Given the description of an element on the screen output the (x, y) to click on. 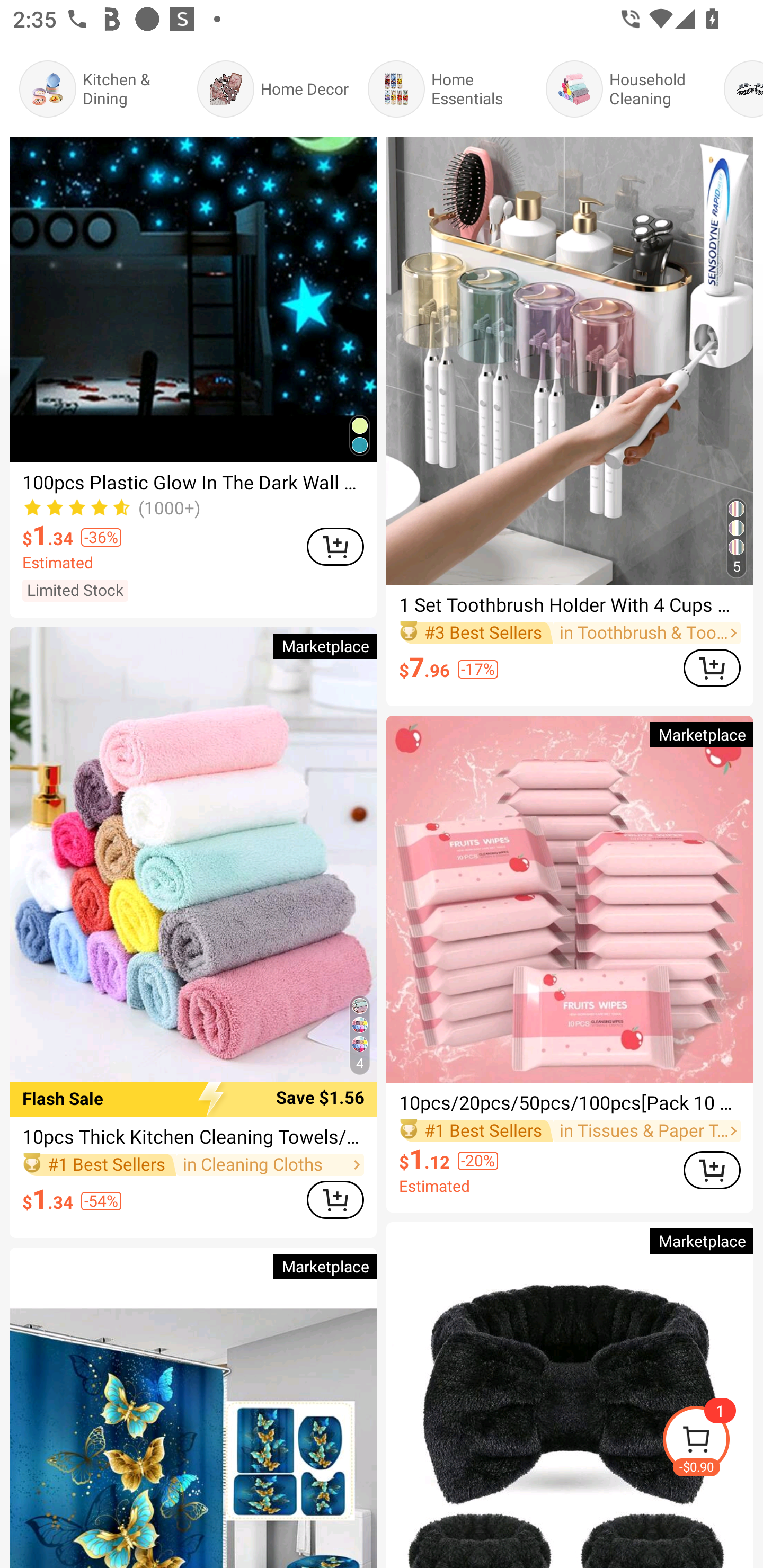
Kitchen & Dining (98, 89)
Home Decor (272, 89)
Home Essentials (446, 89)
Household Cleaning (625, 89)
ADD TO CART (334, 546)
#3 Best Sellers in Toothbrush & Toothpaste Holders (569, 633)
ADD TO CART (711, 667)
#1 Best Sellers in Tissues & Paper Towels (569, 1130)
ADD TO CART (711, 1169)
#1 Best Sellers in Cleaning Cloths (192, 1164)
ADD TO CART (334, 1199)
-$0.90 (712, 1441)
